Given the description of an element on the screen output the (x, y) to click on. 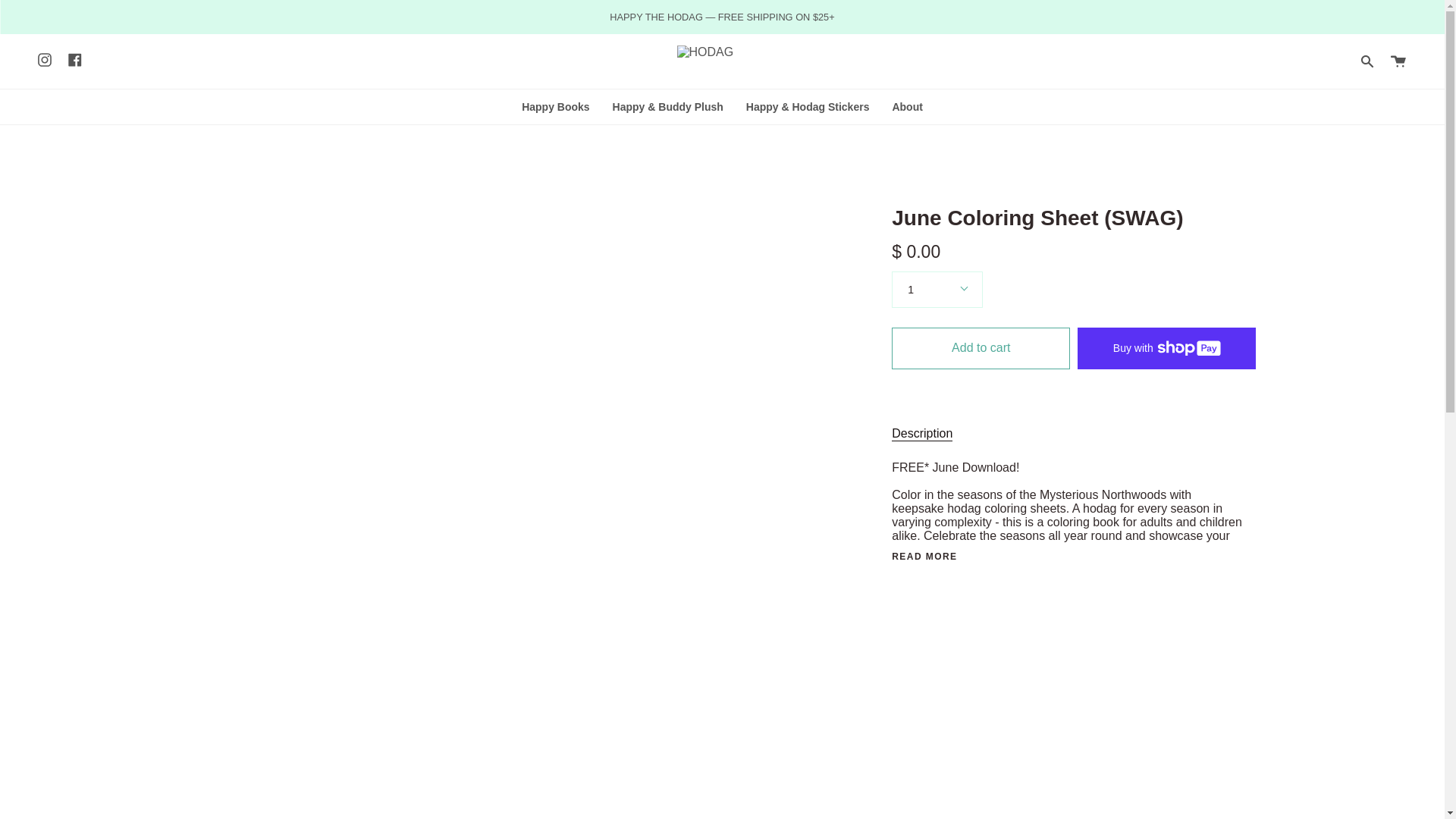
Happy Books (555, 106)
About (906, 106)
